Given the description of an element on the screen output the (x, y) to click on. 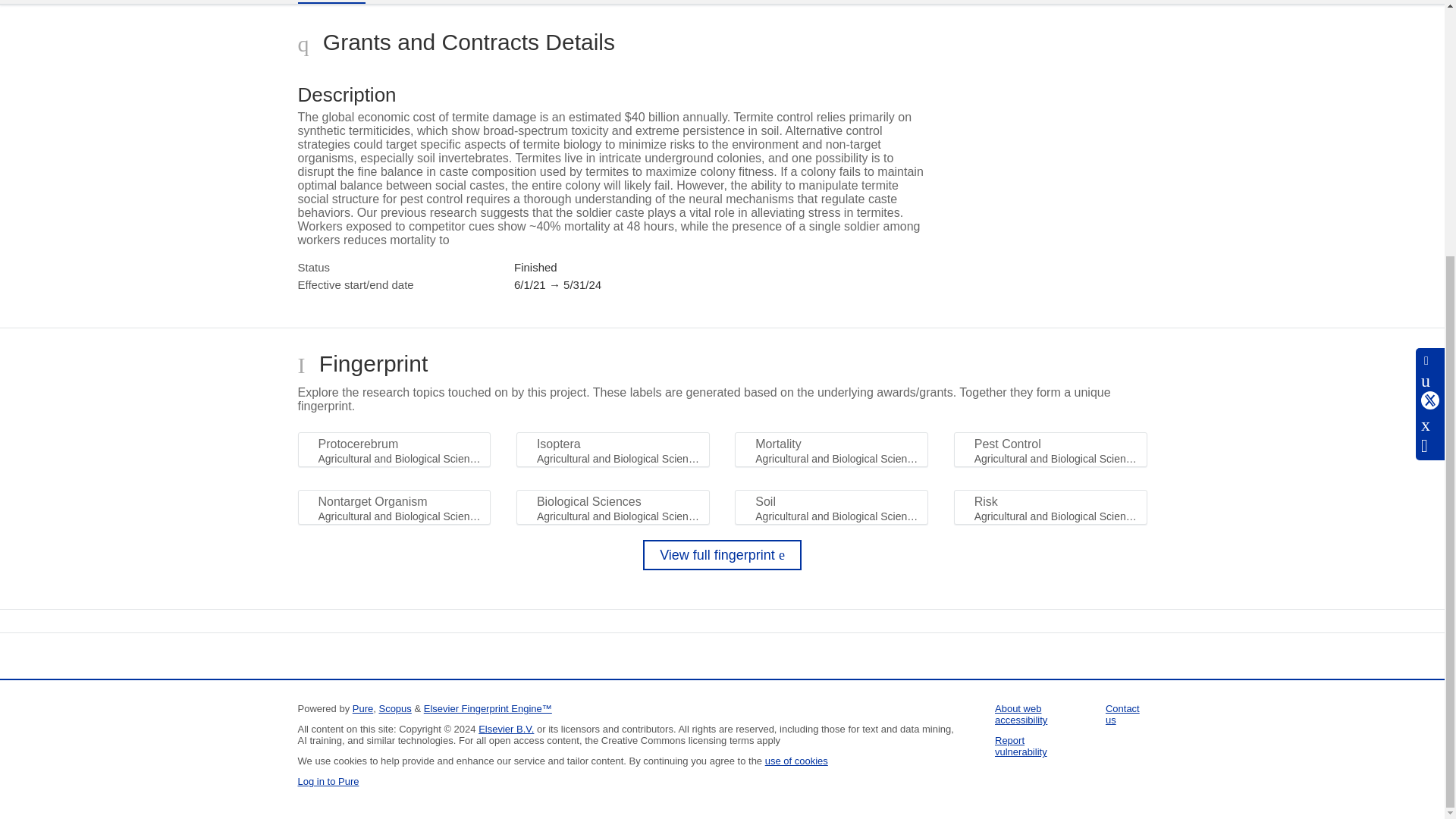
Overview (331, 2)
Fingerprint (419, 1)
Scopus (394, 708)
Pure (362, 708)
Log in to Pure (327, 781)
Elsevier B.V. (506, 728)
View full fingerprint (722, 554)
use of cookies (796, 760)
About web accessibility (1020, 713)
